Given the description of an element on the screen output the (x, y) to click on. 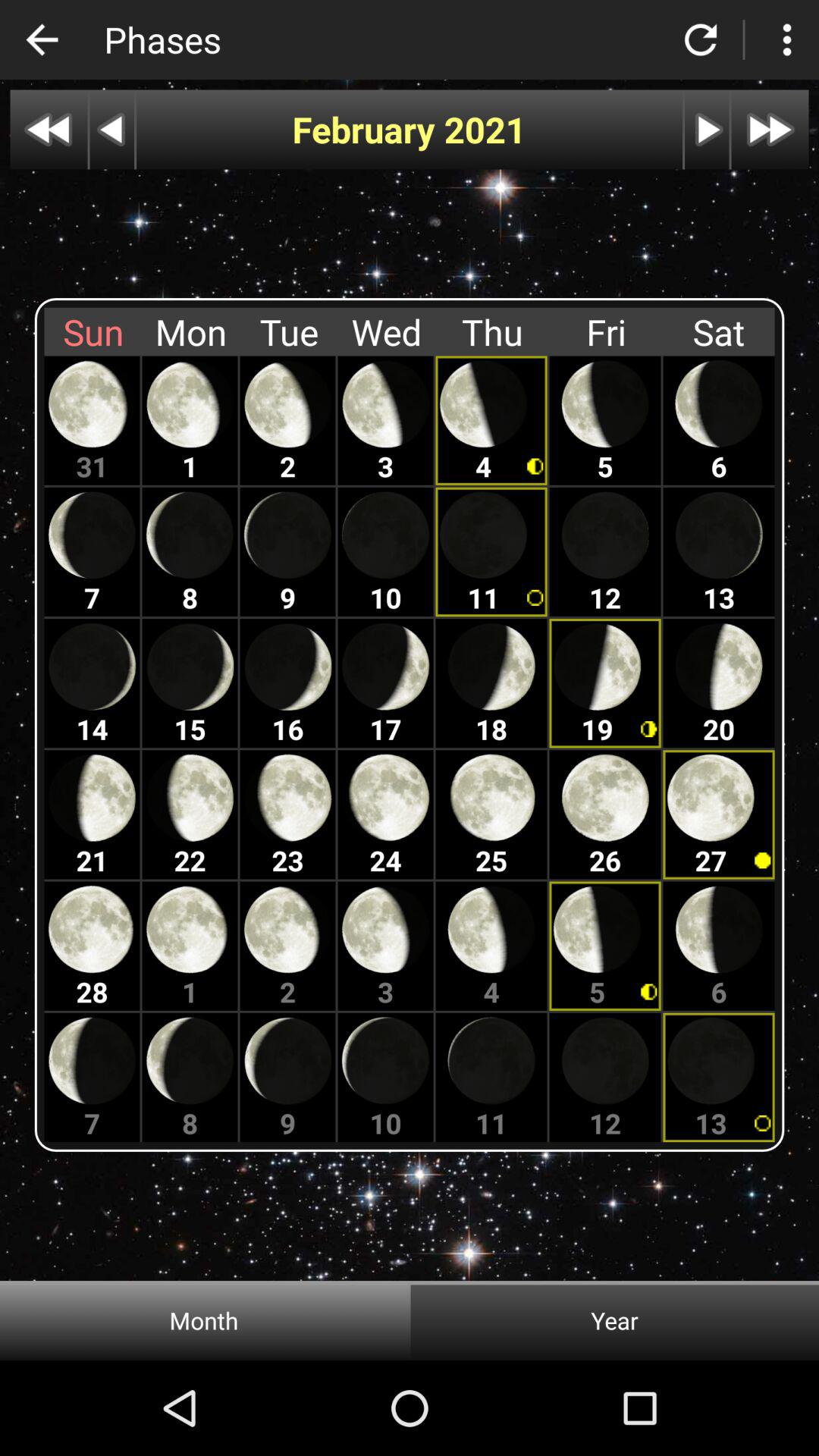
go back one year (48, 129)
